Given the description of an element on the screen output the (x, y) to click on. 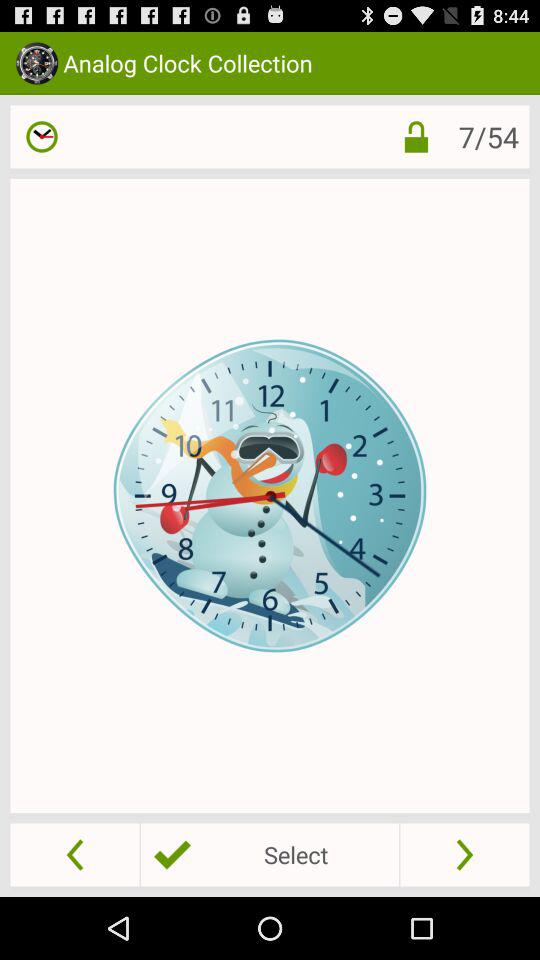
go back (74, 854)
